Given the description of an element on the screen output the (x, y) to click on. 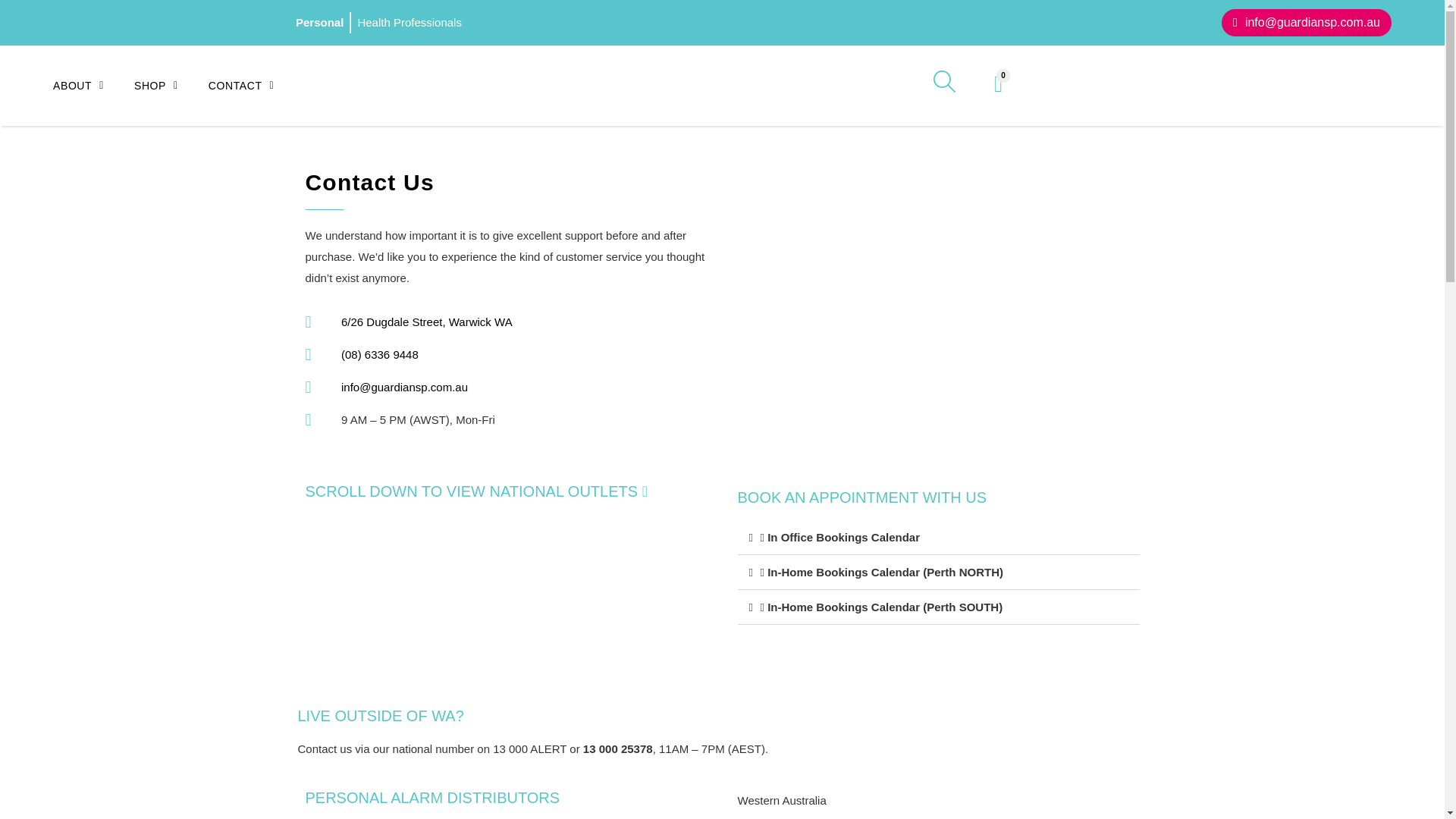
Health Professionals Element type: text (409, 22)
6/26 Dugdale Street, Warwick WA Element type: text (505, 321)
SHOP Element type: text (171, 85)
(08) 6336 9448 Element type: text (505, 354)
0 Element type: text (998, 83)
6/26 Dugdale Street, Warwick WA Element type: hover (938, 322)
MAC transparent Element type: hover (109, 22)
info@guardiansp.com.au Element type: text (505, 386)
ABOUT Element type: text (93, 85)
info@guardiansp.com.au Element type: text (1306, 22)
Personal Element type: text (319, 22)
Transparent NDIS logo Element type: hover (231, 22)
geat2GO_Supply_Partner Element type: hover (1390, 85)
Search Element type: text (938, 428)
CONTACT Element type: text (256, 85)
